Given the description of an element on the screen output the (x, y) to click on. 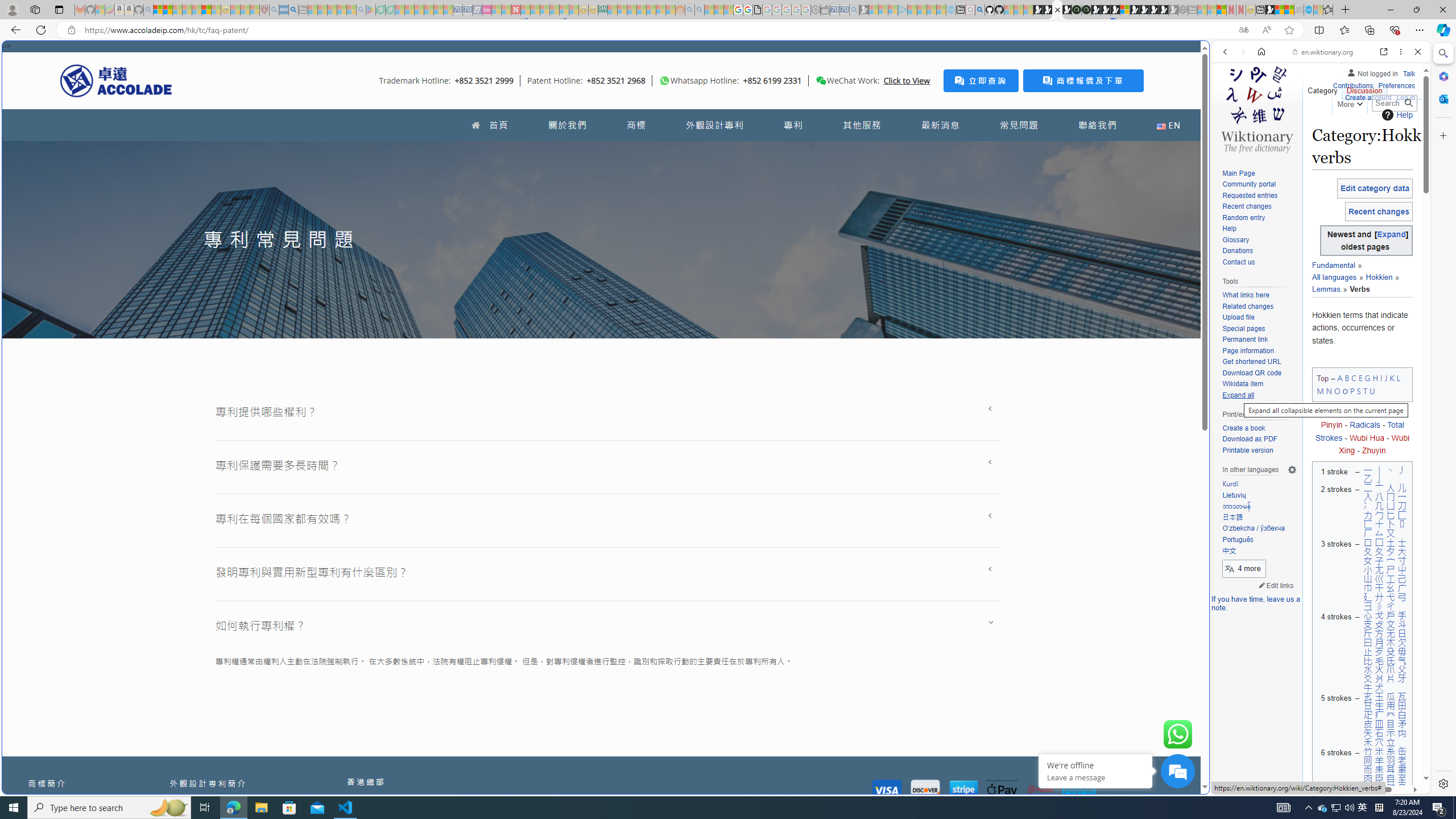
What links here (1245, 295)
en.wiktionary.org (1323, 51)
Close split screen (1208, 57)
Radicals (1364, 424)
